Given the description of an element on the screen output the (x, y) to click on. 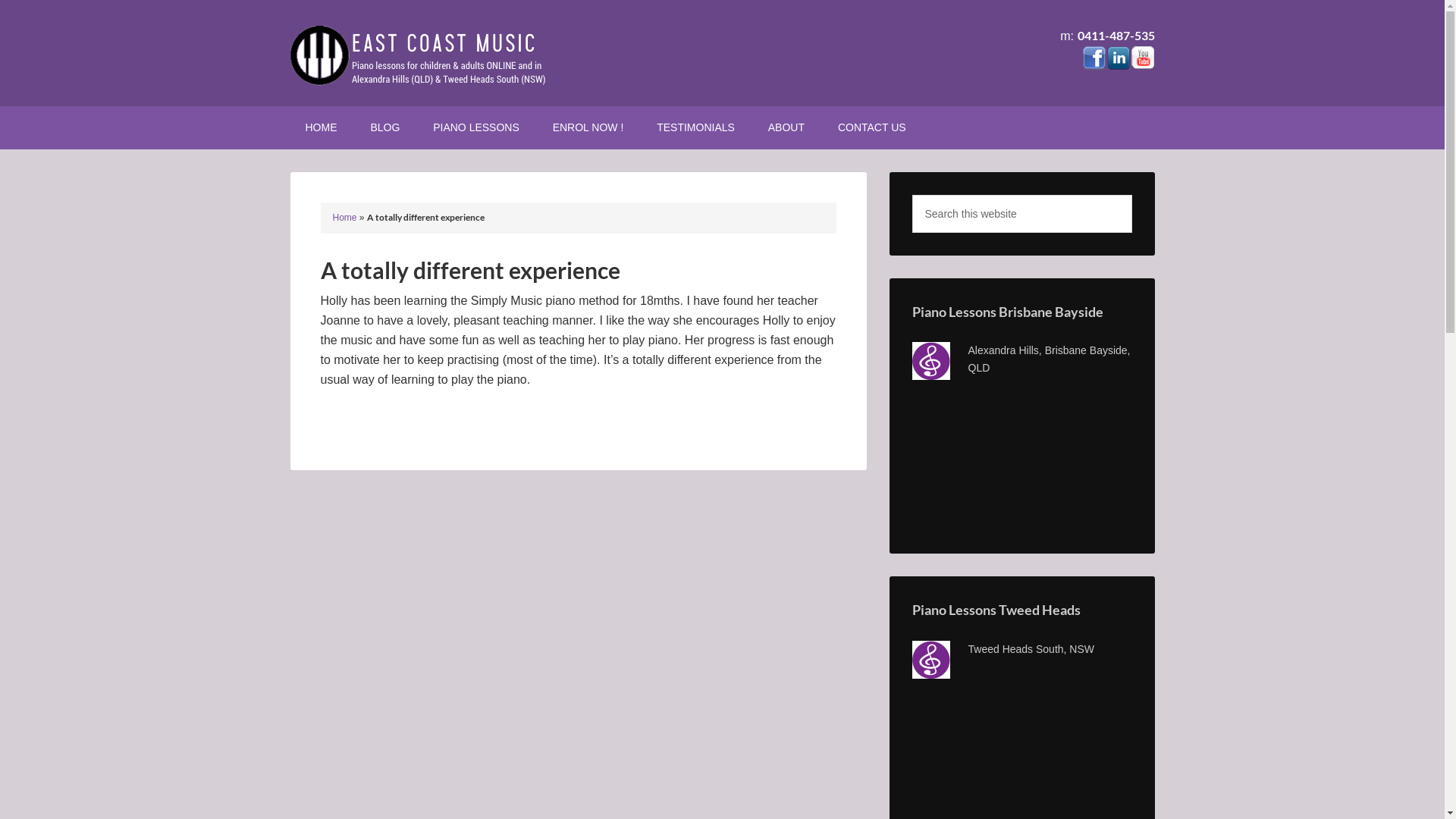
CONTACT US Element type: text (871, 127)
EAST COAST MUSIC Element type: text (418, 53)
ABOUT Element type: text (786, 127)
HOME Element type: text (320, 127)
ENROL NOW ! Element type: text (588, 127)
BLOG Element type: text (384, 127)
Search Element type: text (1131, 194)
PIANO LESSONS Element type: text (475, 127)
Home Element type: text (344, 217)
TESTIMONIALS Element type: text (695, 127)
